Given the description of an element on the screen output the (x, y) to click on. 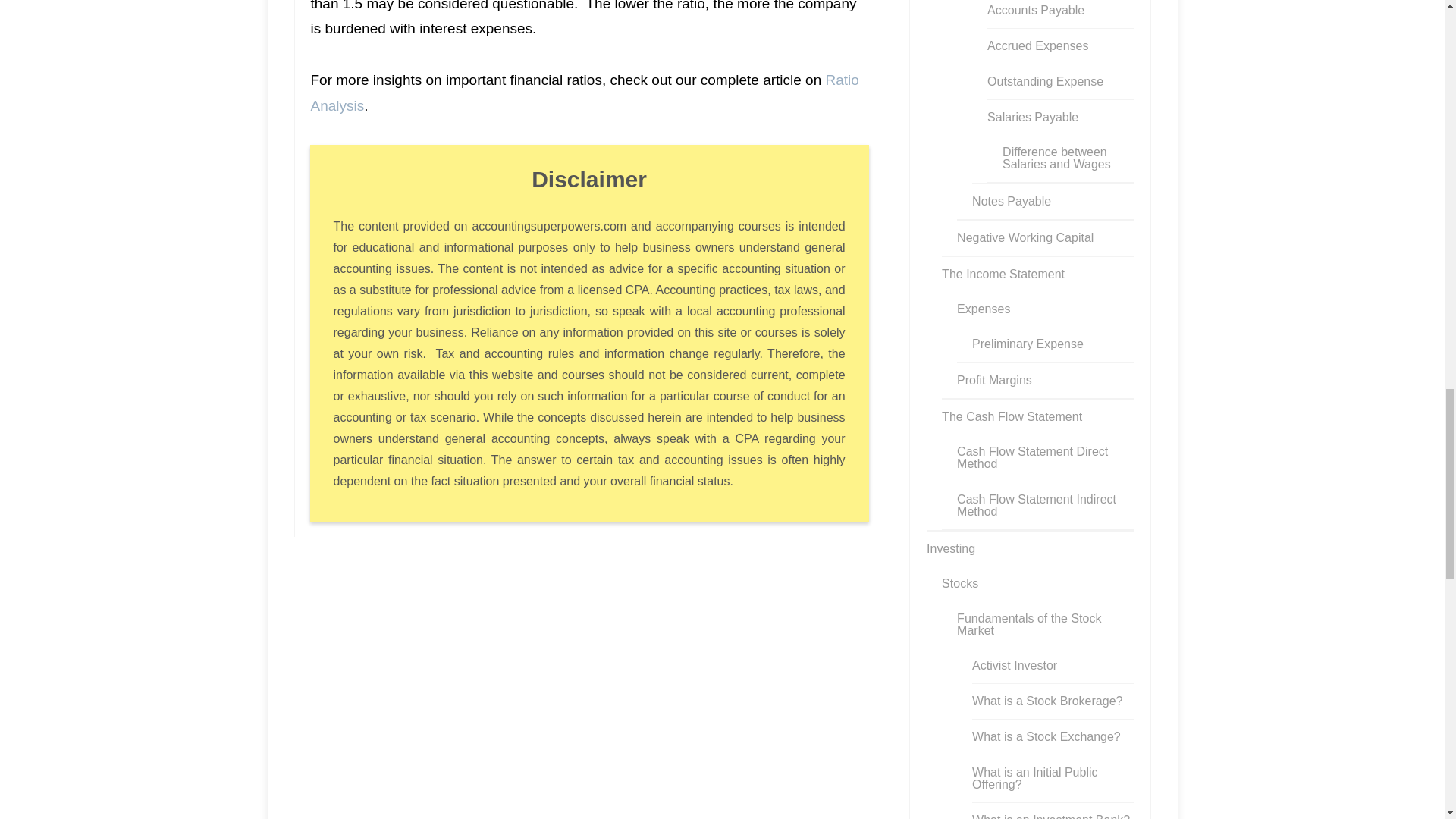
Ratio Analysis (585, 92)
